Given the description of an element on the screen output the (x, y) to click on. 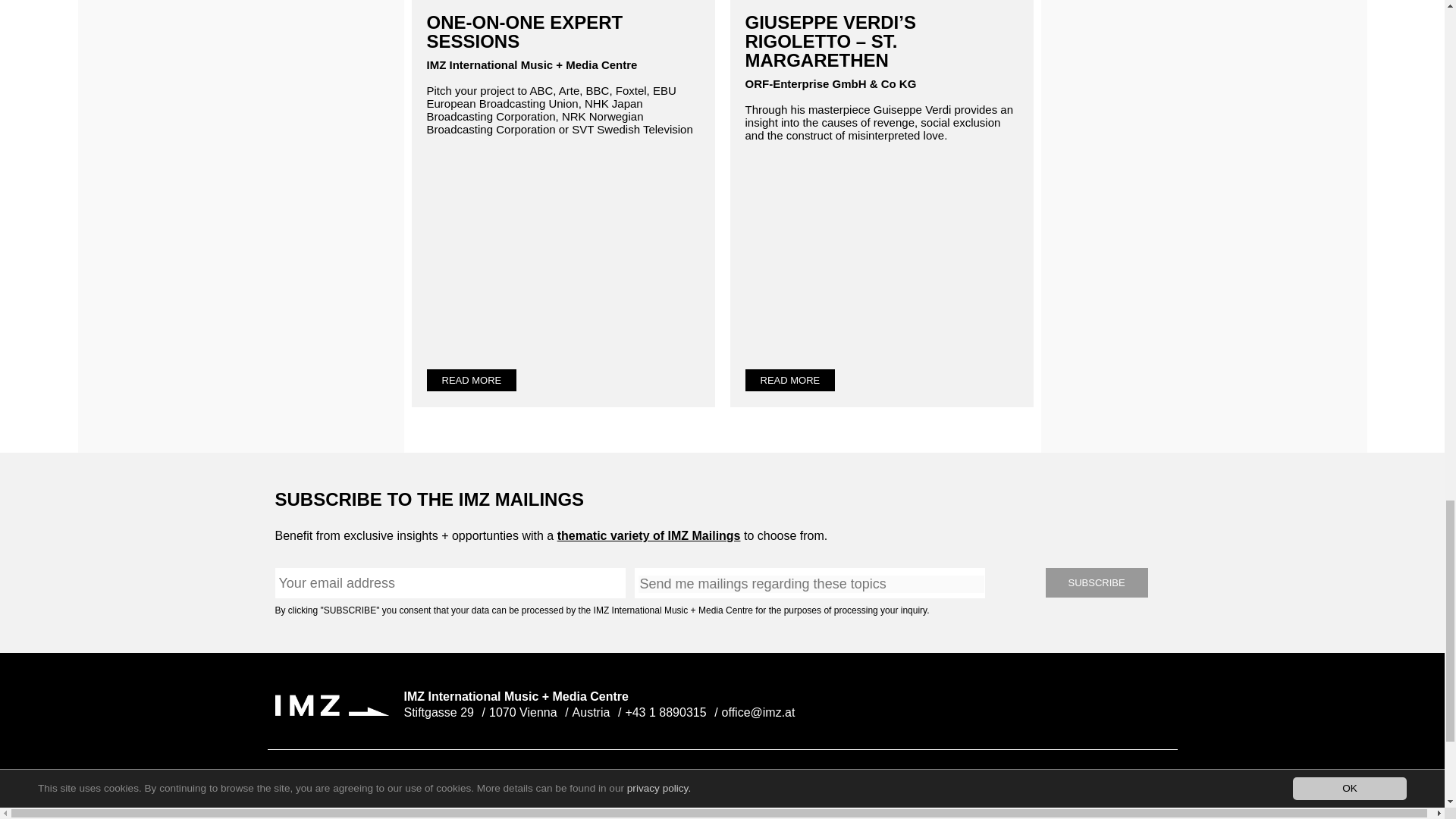
READ MORE (471, 380)
thematic variety of IMZ Mailings (649, 535)
SUBSCRIBE (1096, 582)
READ MORE (789, 380)
SUBSCRIBE (1096, 582)
